Given the description of an element on the screen output the (x, y) to click on. 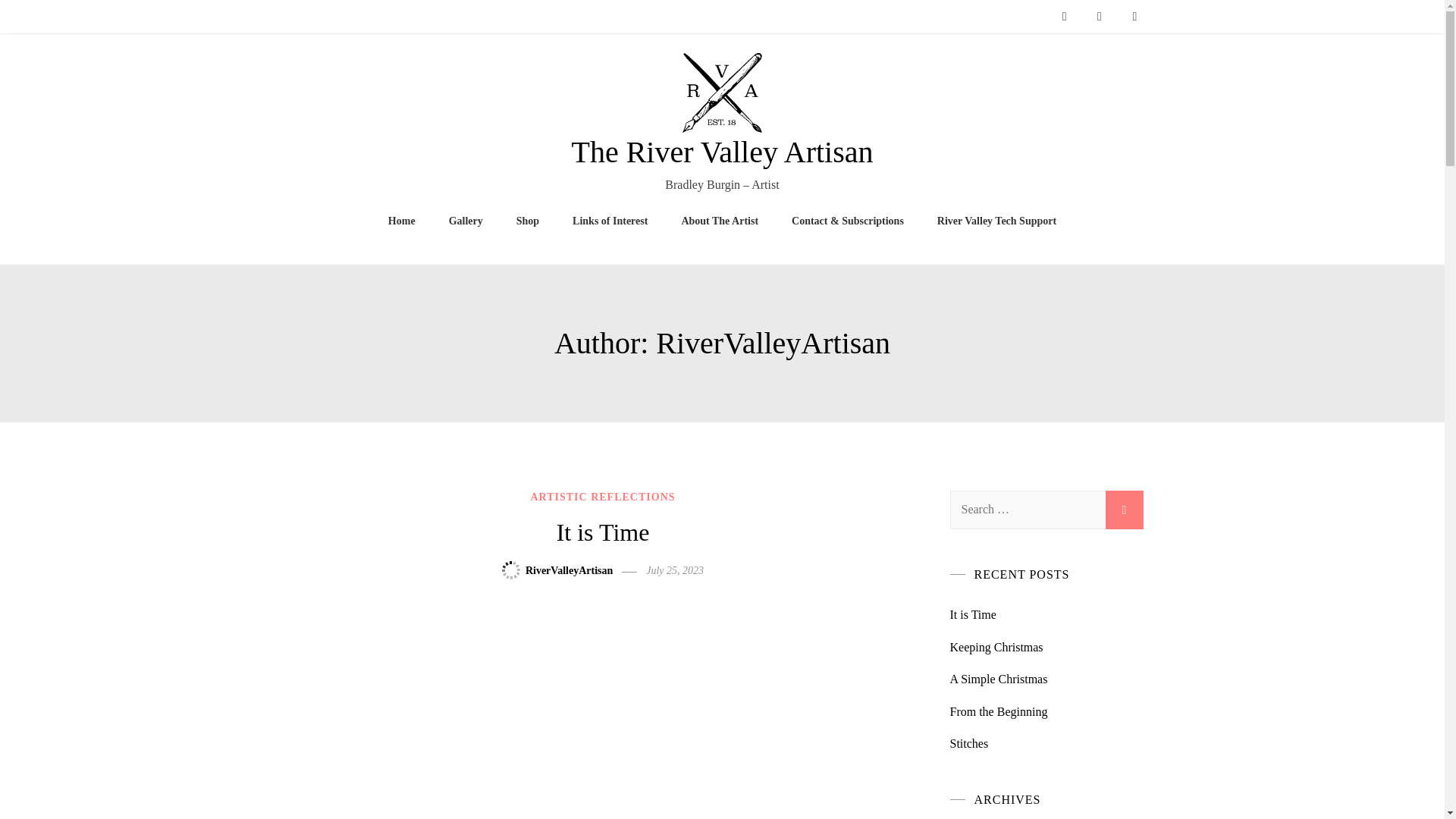
River Valley Tech Support (997, 220)
ARTISTIC REFLECTIONS (602, 496)
Gallery (465, 220)
RiverValleyArtisan (568, 570)
The River Valley Artisan (721, 151)
It is Time (602, 532)
Search (1123, 509)
Links of Interest (609, 220)
Shop (527, 220)
July 25, 2023 (674, 570)
Search (1123, 509)
Home (401, 220)
About The Artist (719, 220)
